Given the description of an element on the screen output the (x, y) to click on. 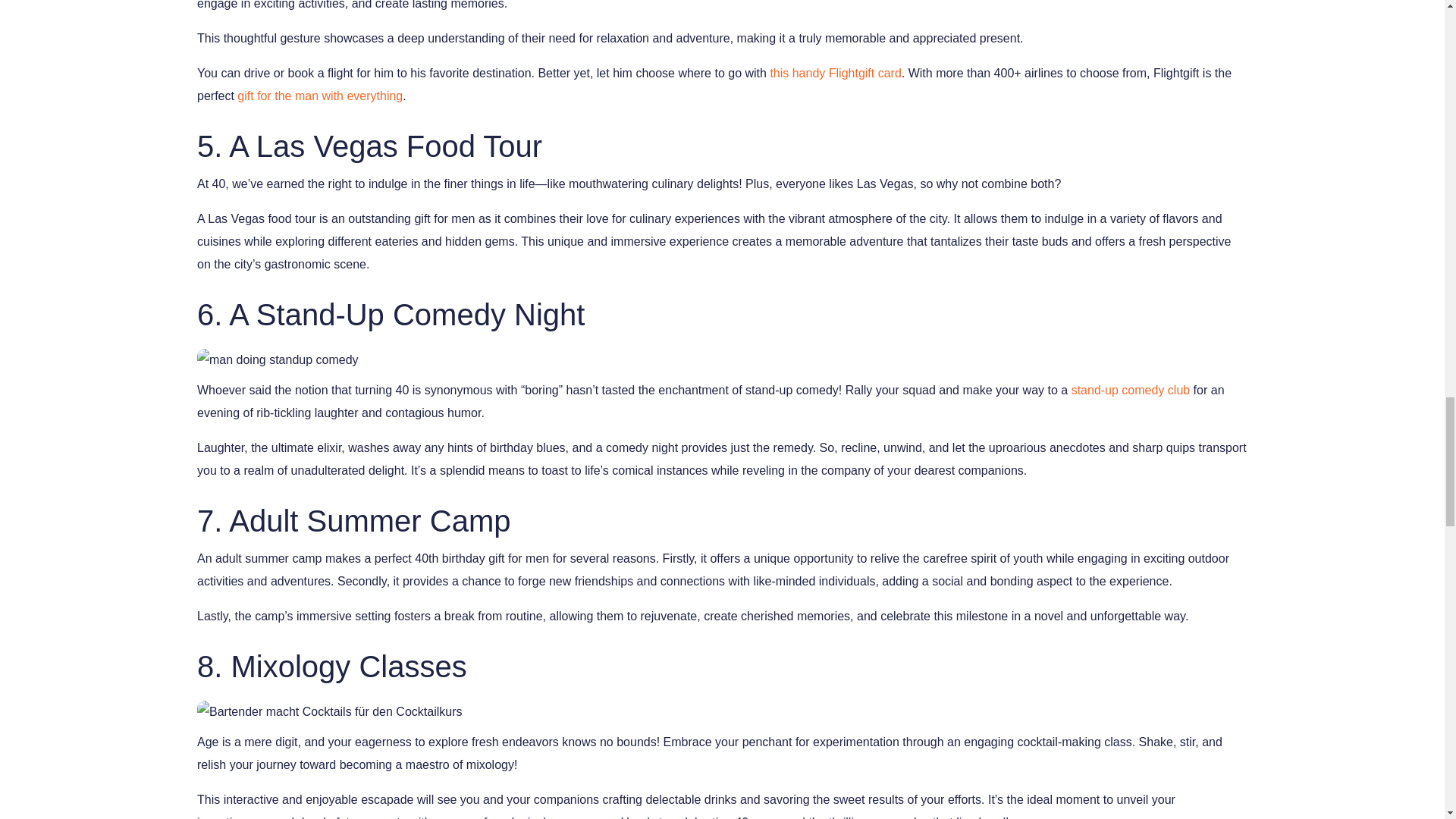
40Th Birthday Gift Ideas For Men To Rock His World 6 (328, 712)
40Th Birthday Gift Ideas For Men To Rock His World 5 (277, 359)
